Given the description of an element on the screen output the (x, y) to click on. 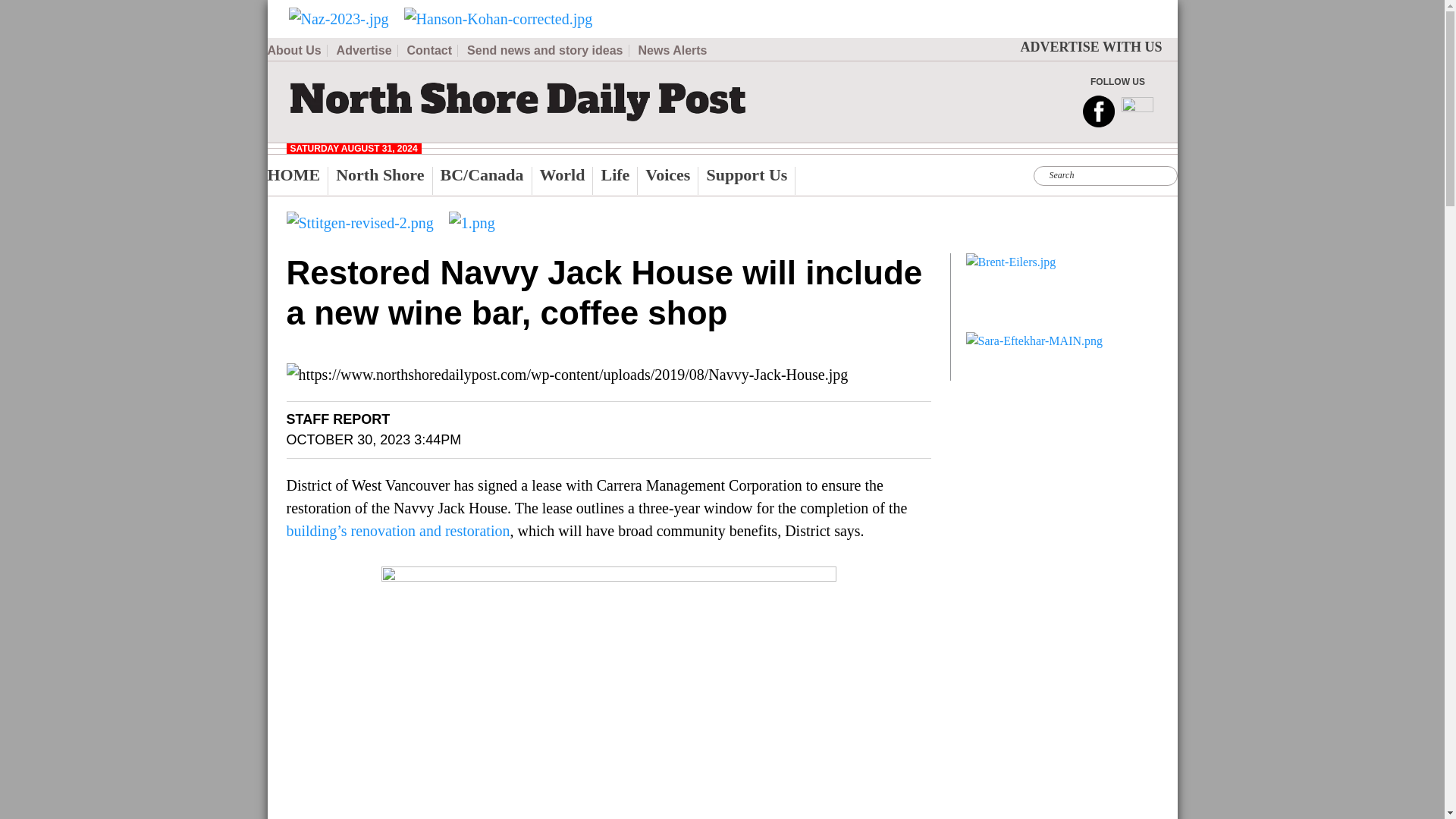
Voices (671, 180)
World (567, 180)
Send news and story ideas (547, 50)
About Us (296, 50)
Life (618, 180)
North Shore (384, 180)
News Alerts (673, 50)
ADVERTISE WITH US (1090, 47)
Search (455, 9)
